Given the description of an element on the screen output the (x, y) to click on. 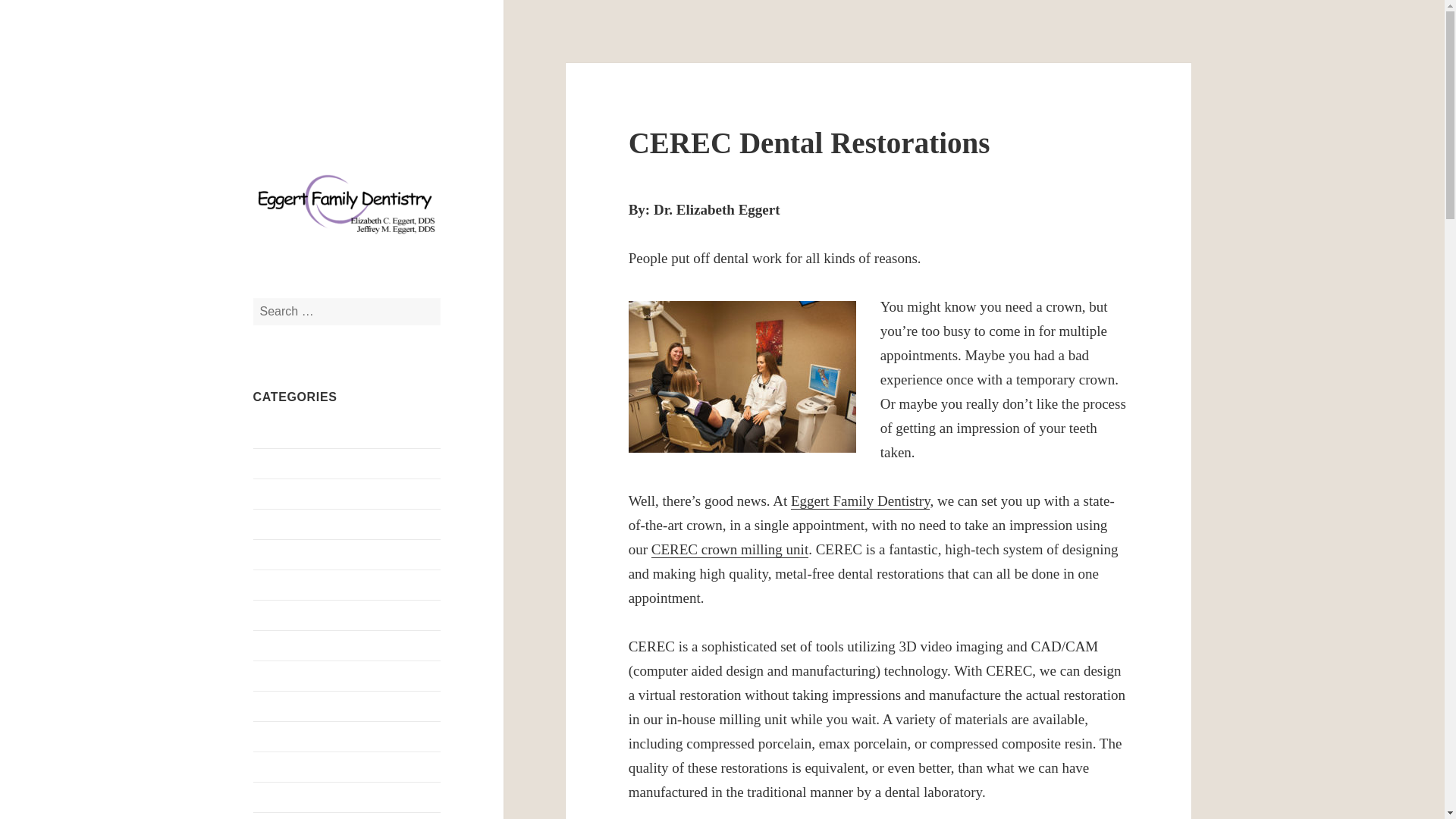
Dental Crown (287, 645)
Dental Protection (295, 766)
Dental Bonding (291, 615)
Dental Health for Women (315, 736)
Eggert Family Dentistry Blog (323, 86)
Cosmetic Dentistry (300, 584)
Dental Health for Teens (311, 706)
Airway and Sleep (296, 432)
Caring for your Teeth (305, 523)
Dentures (275, 797)
Children's Dental Health (312, 554)
Brushing (275, 493)
